Given the description of an element on the screen output the (x, y) to click on. 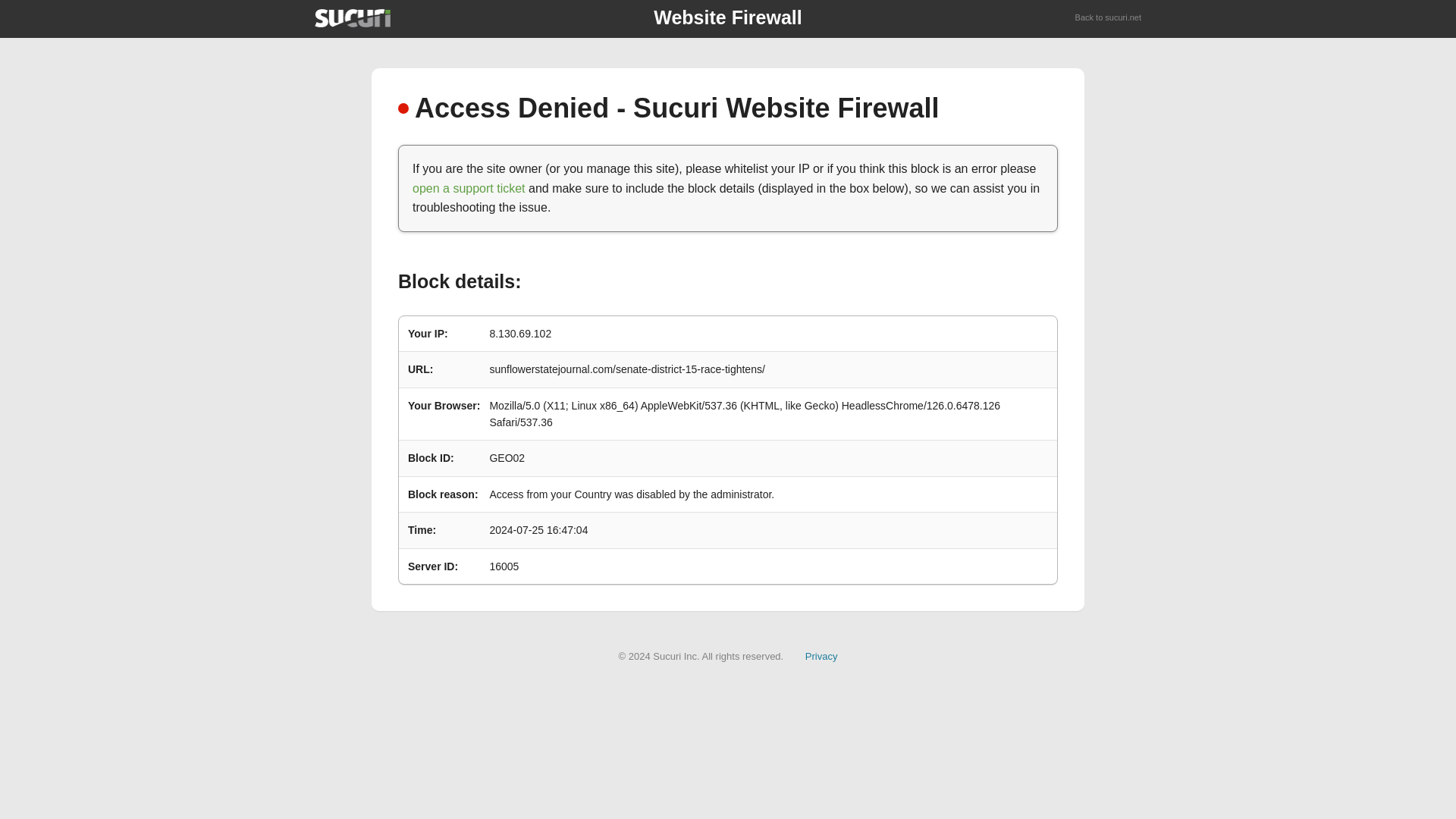
Privacy (821, 655)
Back to sucuri.net (1108, 18)
open a support ticket (468, 187)
